Given the description of an element on the screen output the (x, y) to click on. 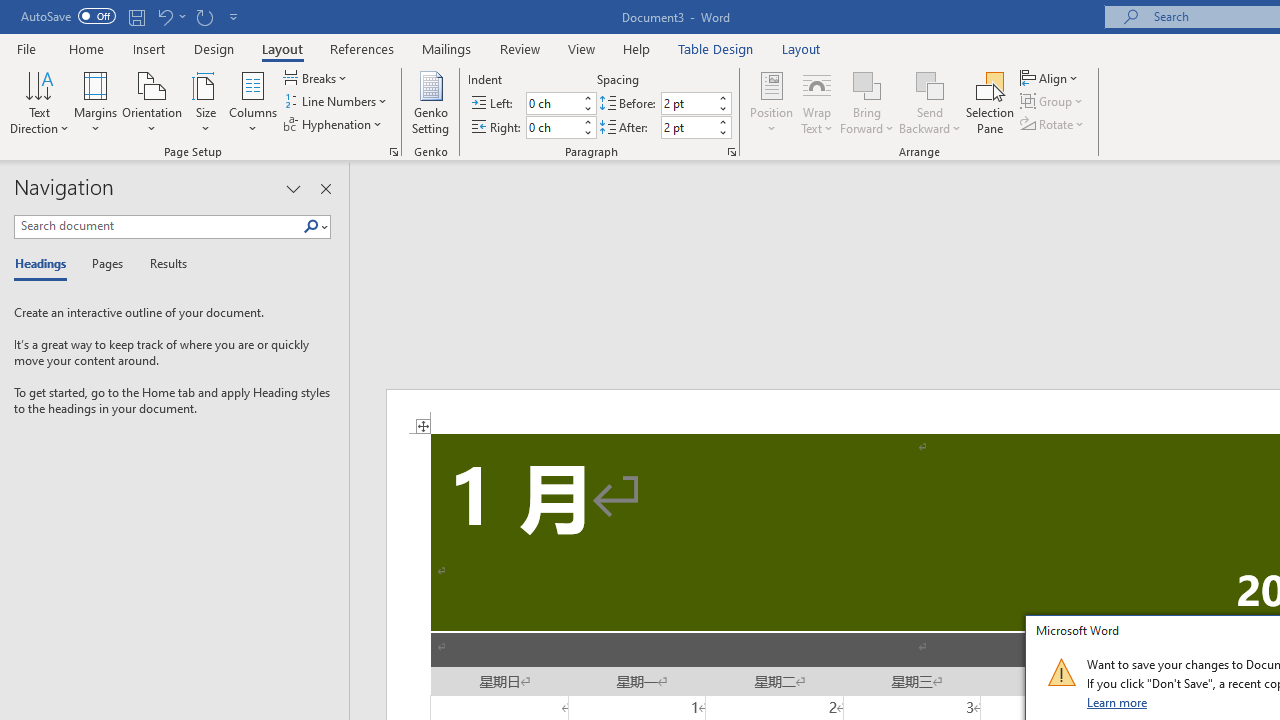
Send Backward (930, 84)
Send Backward (930, 102)
Spacing After (687, 127)
Columns (253, 102)
Position (771, 102)
Spacing Before (687, 103)
Margins (95, 102)
